Given the description of an element on the screen output the (x, y) to click on. 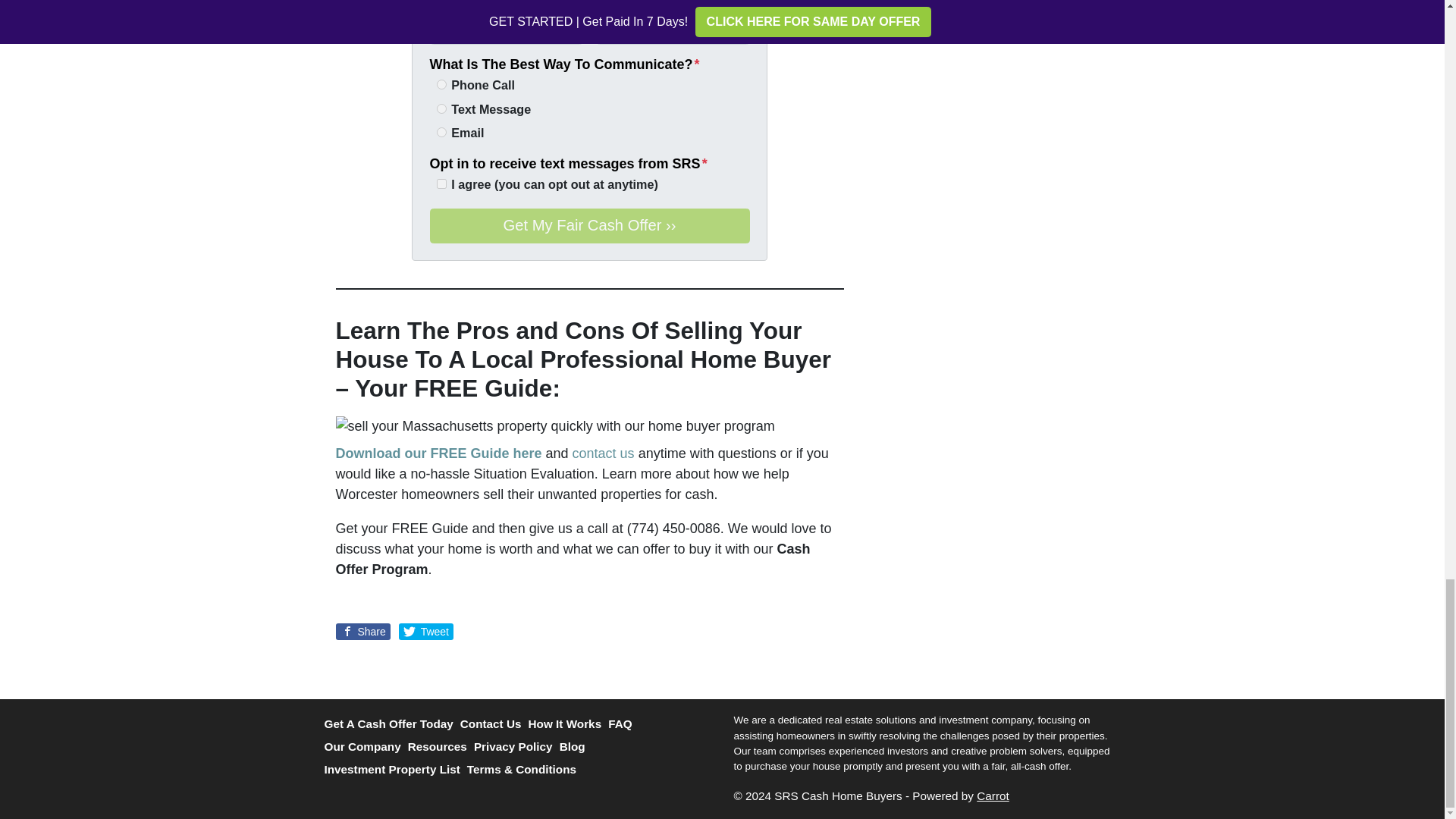
Email (441, 132)
Text Message (441, 108)
Phone Call (441, 84)
